Given the description of an element on the screen output the (x, y) to click on. 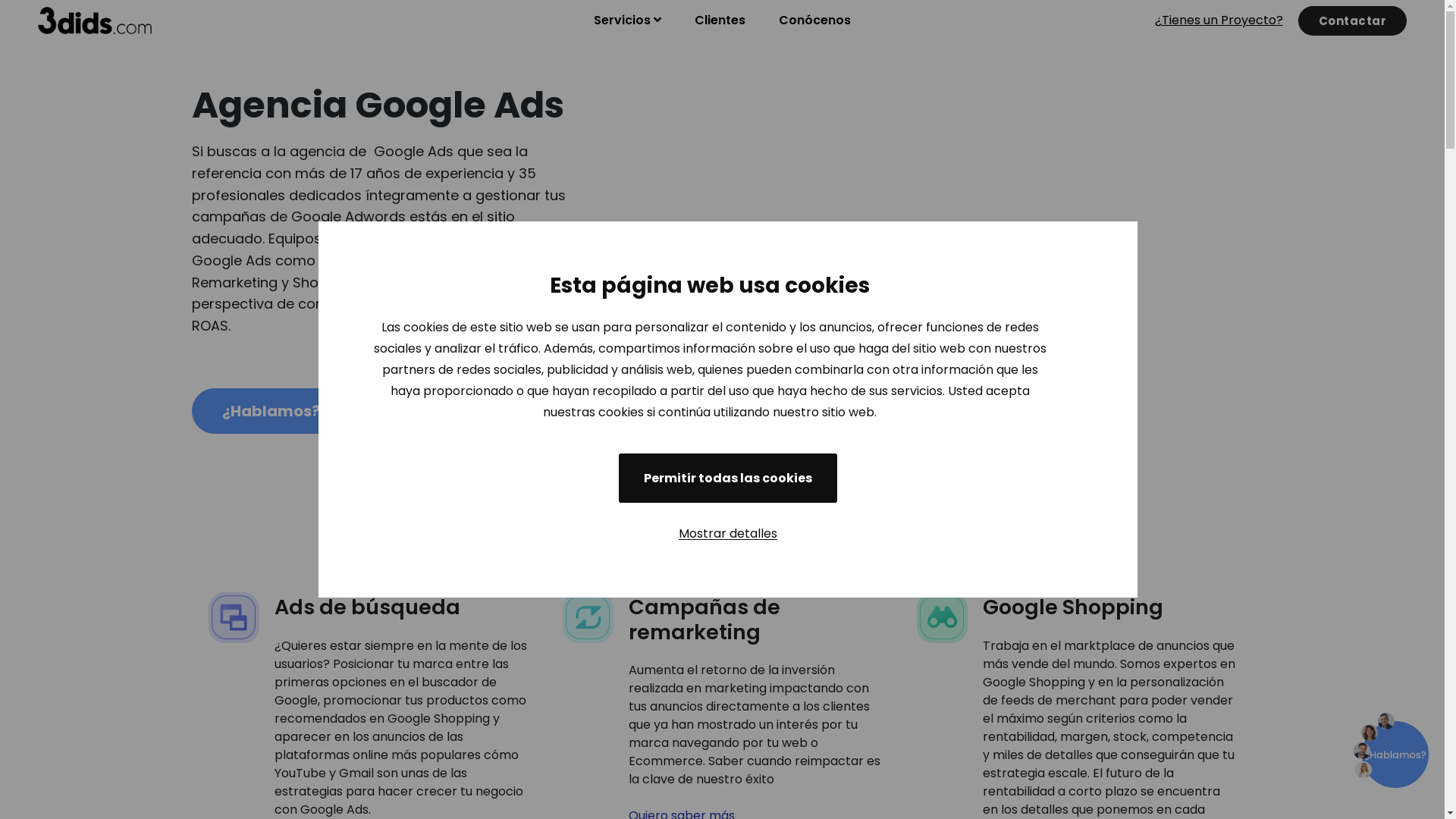
campanas_remarketing Element type: hover (587, 617)
campanas_prospeccion Element type: hover (941, 617)
Clientes Element type: text (720, 20)
Permitir todas las cookies Element type: text (727, 477)
Contactar Element type: text (1352, 20)
sem_google_ads Element type: hover (233, 617)
Servicios Element type: text (627, 20)
Google Shopping Element type: text (1072, 607)
Mostrar detalles Element type: text (727, 533)
